Given the description of an element on the screen output the (x, y) to click on. 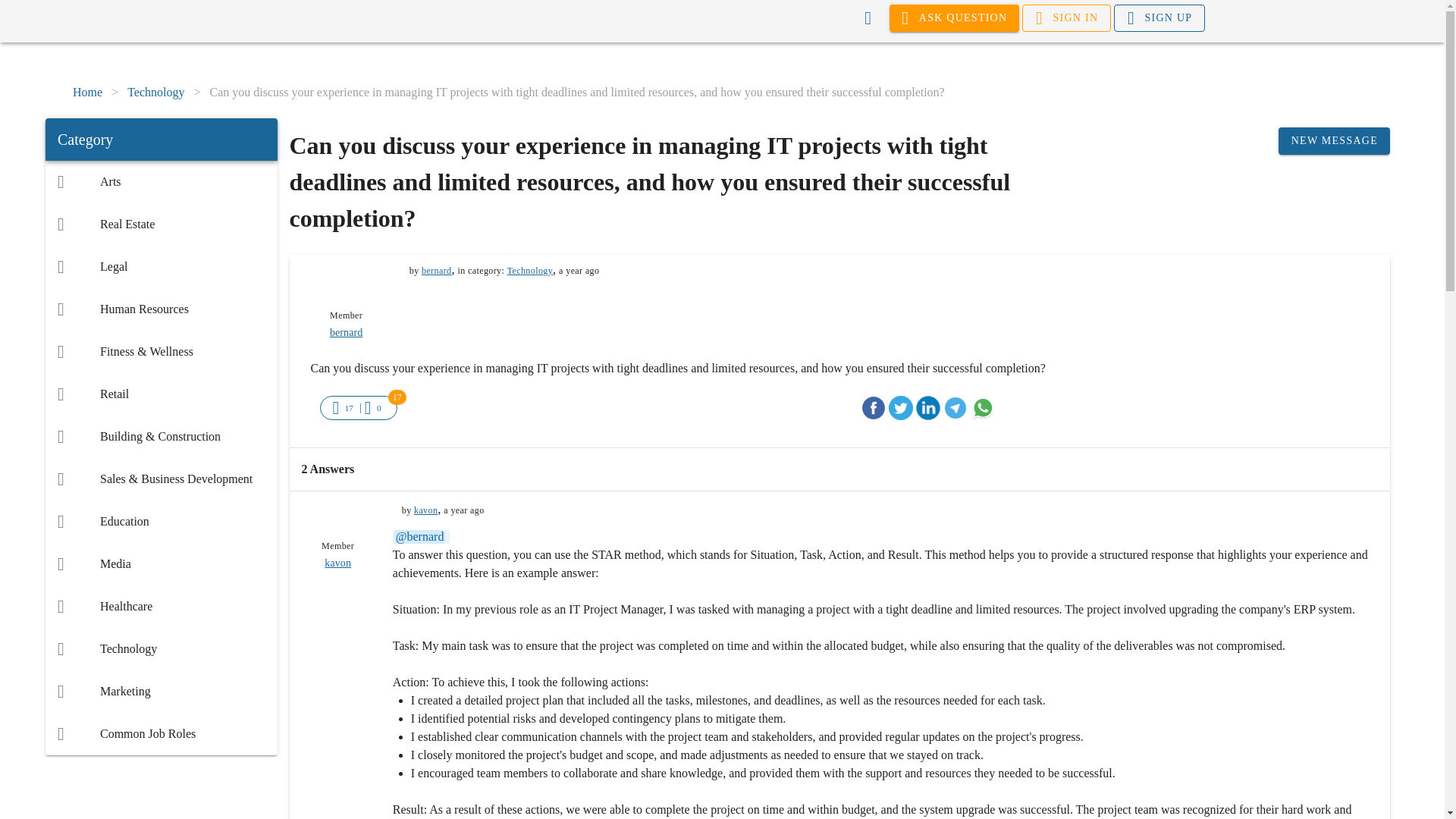
Media (161, 563)
Education (161, 521)
LinkedIn (927, 407)
Technology (156, 92)
SIGN IN (1066, 17)
Legal (161, 266)
SIGN UP (1159, 17)
Facebook (873, 407)
Real Estate (161, 224)
